Given the description of an element on the screen output the (x, y) to click on. 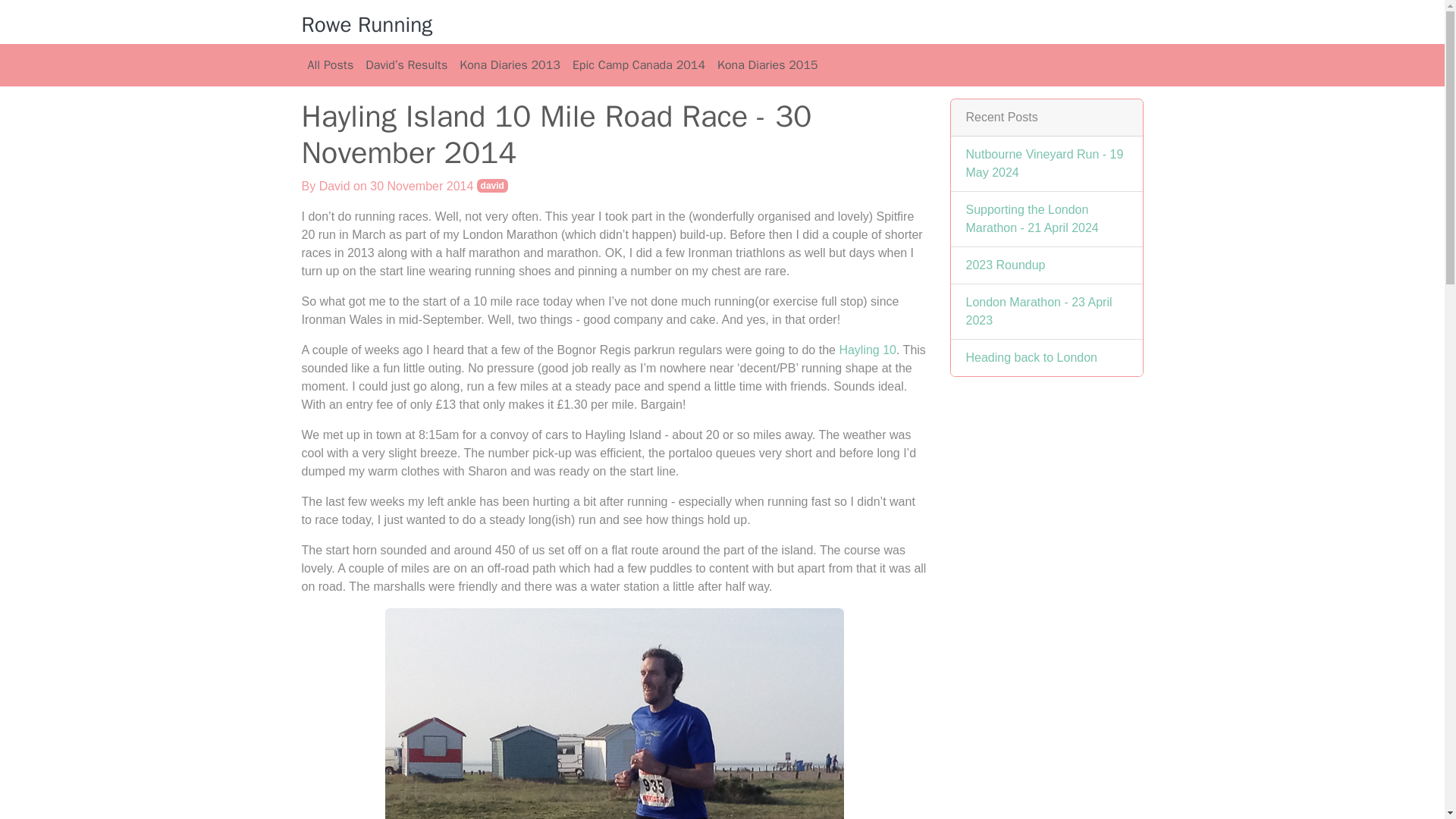
Kona Diaries 2013 (509, 64)
Nutbourne Vineyard Run - 19 May 2024 (1045, 163)
Heading back to London (1031, 357)
London Marathon - 23 April 2023 (1039, 310)
Epic Camp Canada 2014 (638, 64)
All Posts (330, 64)
Rowe Running (366, 24)
Supporting the London Marathon - 21 April 2024 (1032, 218)
david (492, 185)
2023 Roundup (1005, 264)
